Given the description of an element on the screen output the (x, y) to click on. 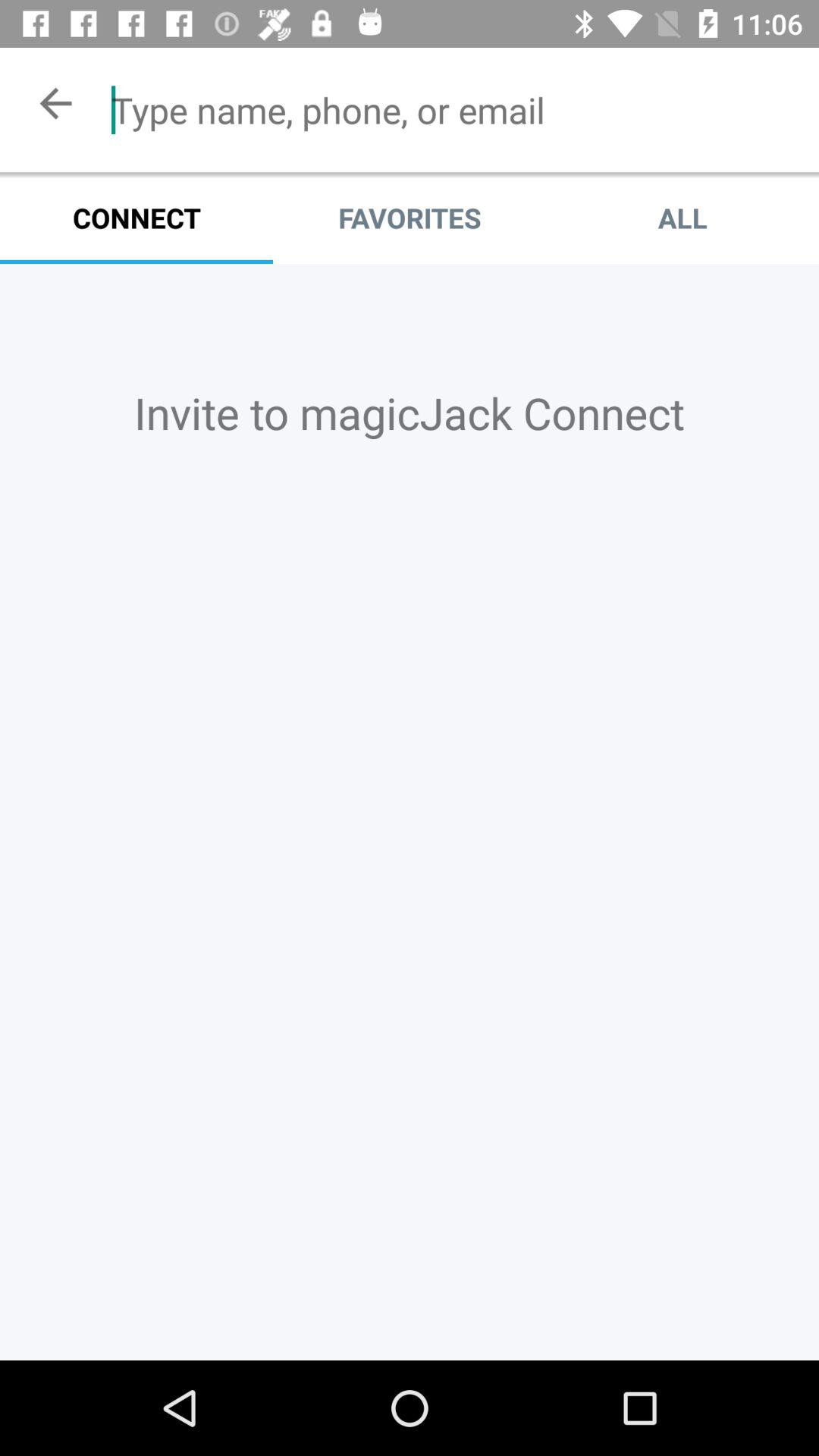
turn on icon to the right of favorites (682, 217)
